Given the description of an element on the screen output the (x, y) to click on. 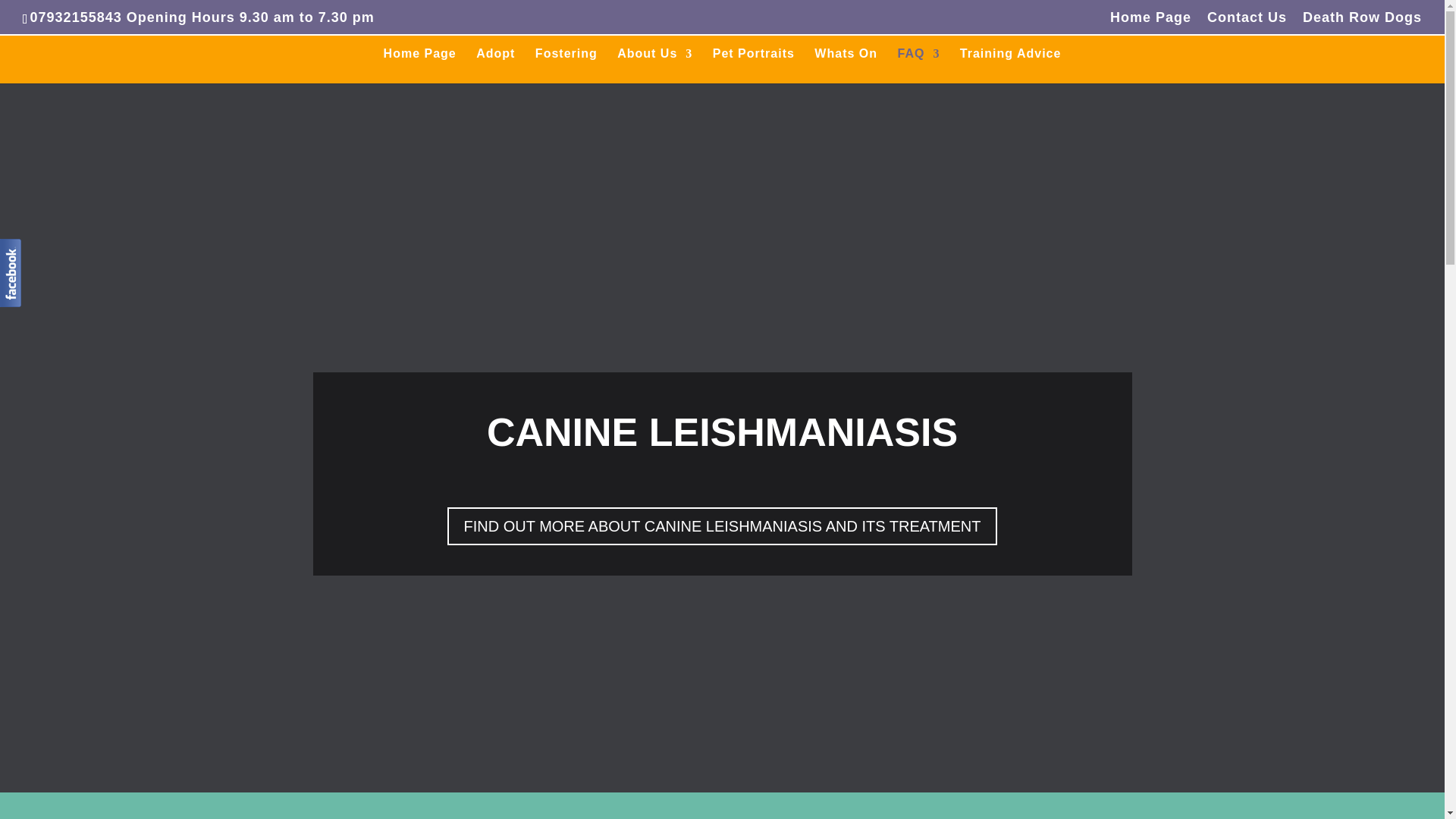
Whats On (845, 65)
Training Advice (1010, 65)
FIND OUT MORE ABOUT CANINE LEISHMANIASIS AND ITS TREATMENT (721, 525)
Home Page (420, 65)
About Us (655, 65)
Home Page (1150, 22)
Contact Us (1247, 22)
Death Row Dogs (1362, 22)
Adopt (495, 65)
Fostering (565, 65)
Pet Portraits (753, 65)
FAQ (917, 65)
